Given the description of an element on the screen output the (x, y) to click on. 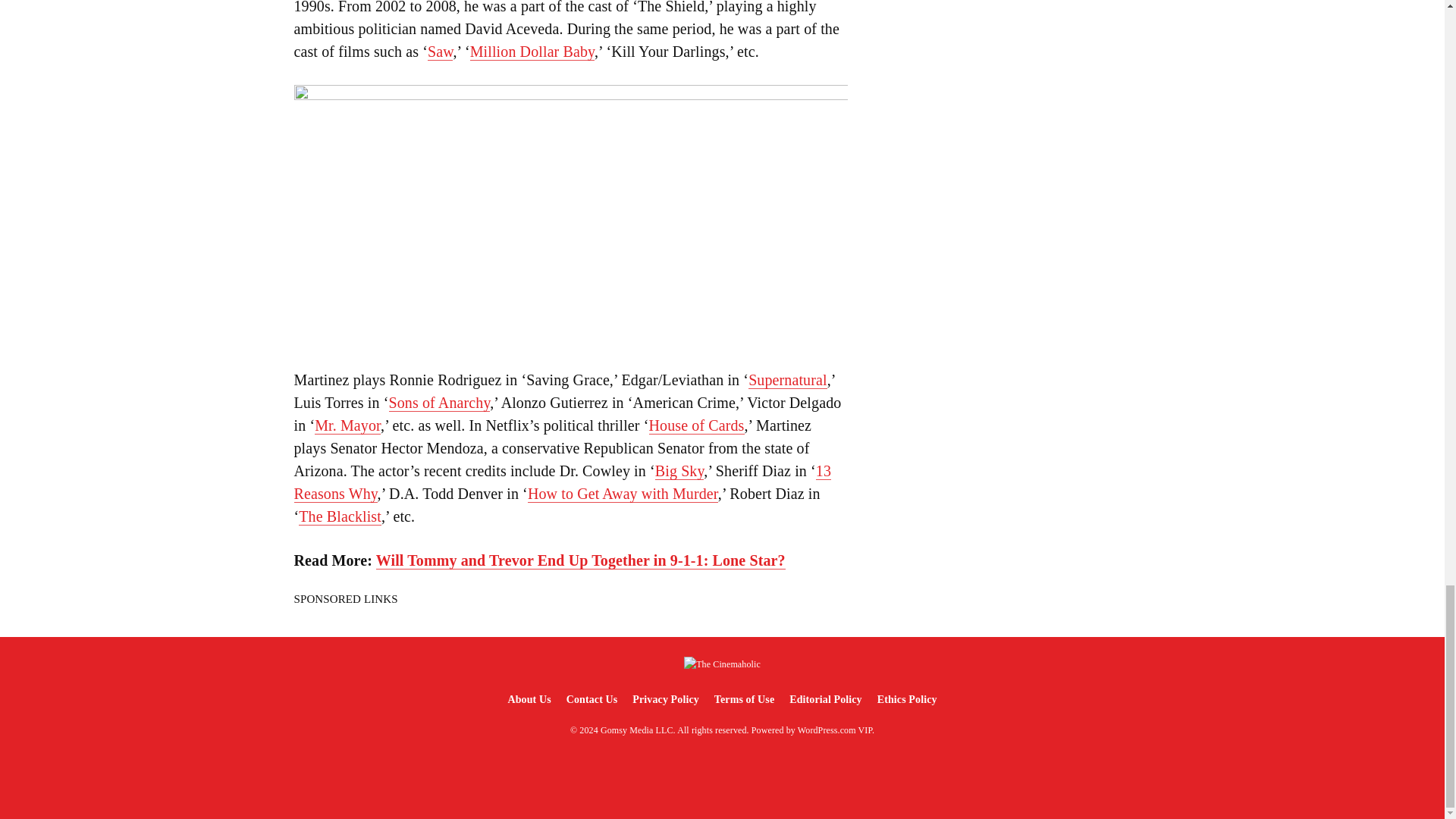
About Us (528, 699)
House of Cards (696, 425)
Will Tommy and Trevor End Up Together in 9-1-1: Lone Star? (580, 560)
Terms of Use (743, 699)
Editorial Policy (825, 699)
Sons of Anarchy (439, 402)
Big Sky (679, 470)
Privacy Policy (665, 699)
Will Tommy and Trevor End Up Together in 9-1-1: Lone Star? (580, 560)
How to Get Away with Murder (622, 493)
